Given the description of an element on the screen output the (x, y) to click on. 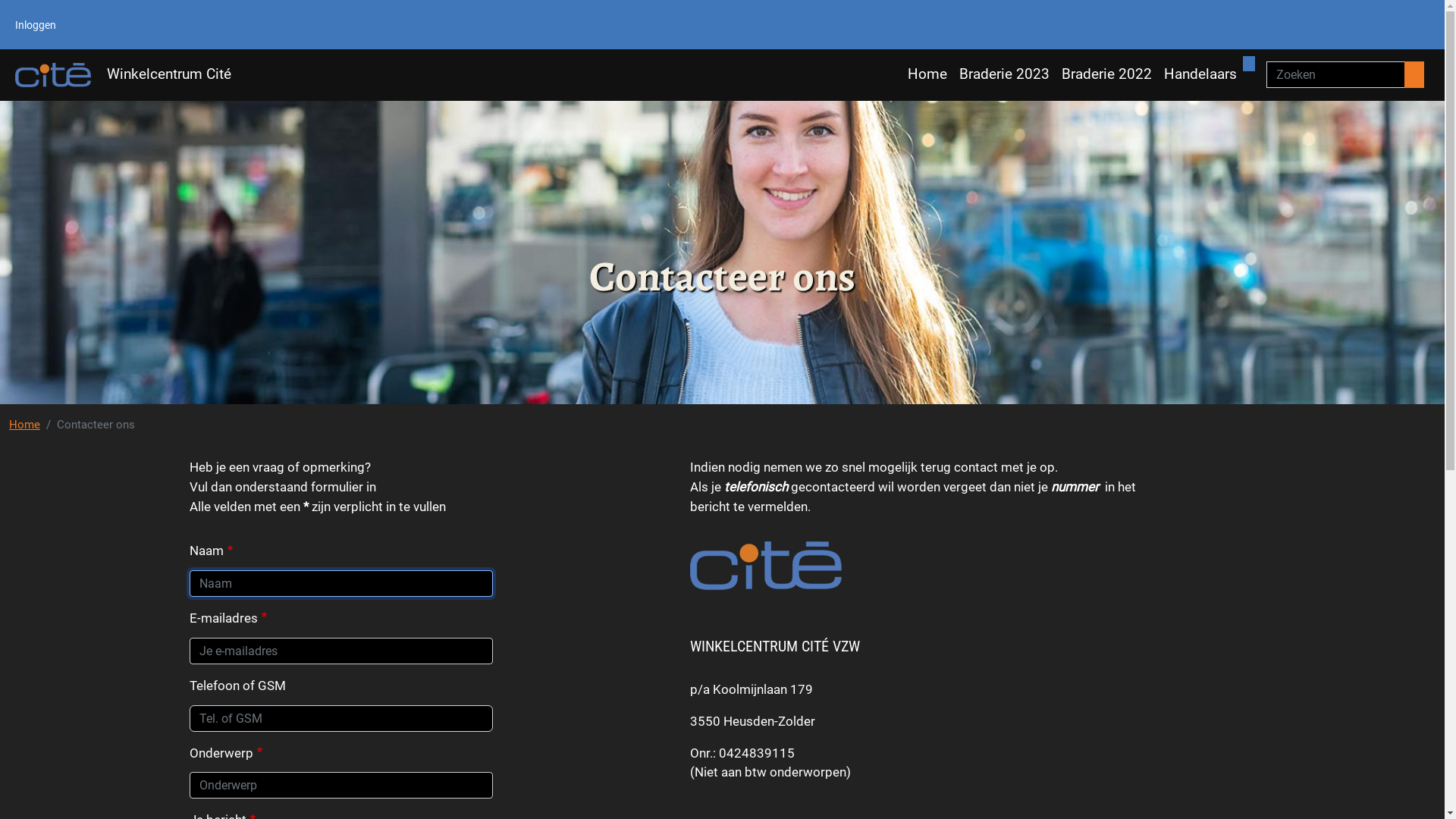
Inloggen Element type: text (35, 24)
Handelaars Element type: text (1199, 74)
Braderie 2022 Element type: text (1106, 74)
Zoeken Element type: text (1414, 74)
Geef de woorden op waarnaar u wilt zoeken. Element type: hover (1335, 74)
Home Element type: text (927, 74)
Braderie 2023 Element type: text (1004, 74)
Home Element type: text (24, 424)
